Given the description of an element on the screen output the (x, y) to click on. 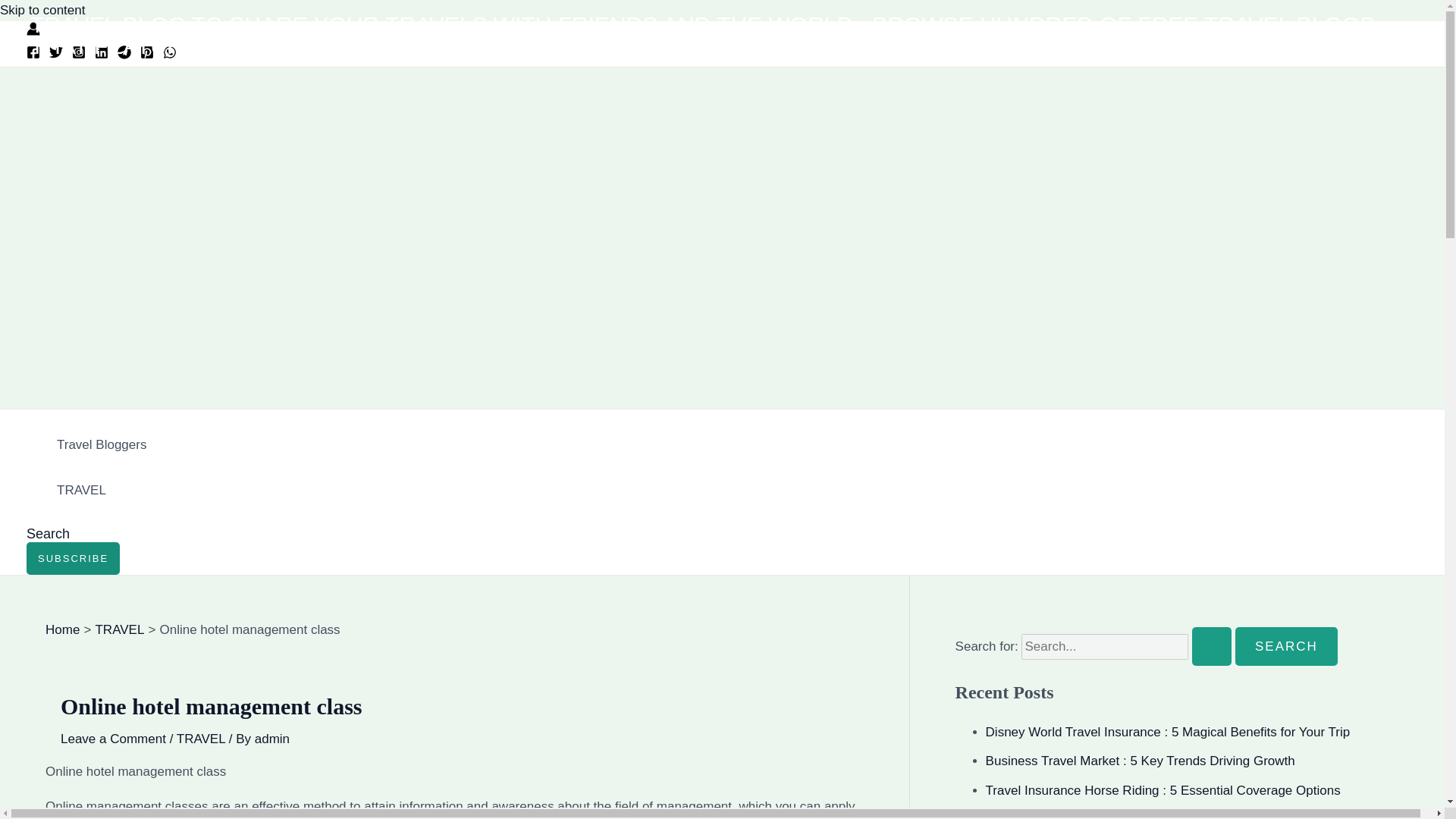
Search (47, 534)
admin (271, 739)
Search (1286, 646)
Skip to content (42, 10)
Search (1286, 646)
Leave a Comment (113, 739)
Travel Insurance Horse Riding : 5 Essential Coverage Options (1162, 789)
TRAVEL (200, 739)
Search (1286, 646)
Home (62, 629)
